Given the description of an element on the screen output the (x, y) to click on. 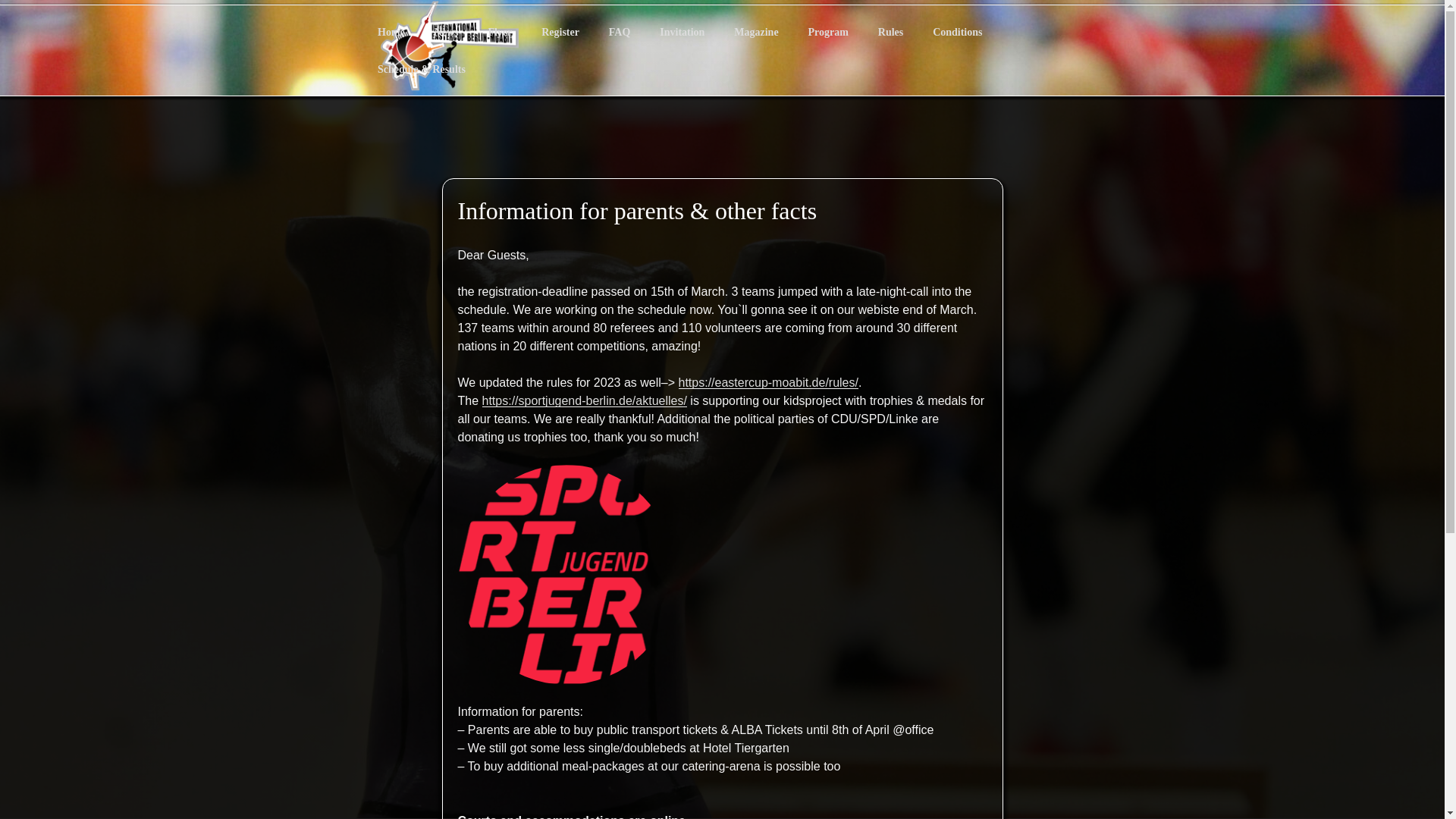
News (445, 31)
FAQ (619, 31)
Register (560, 31)
Invitation (681, 31)
Home (390, 31)
Conditions (957, 31)
Rules (889, 31)
Program (827, 31)
INTERNATIONAL EASTERCUP BERLIN-MOABIT (729, 112)
Magazine (756, 31)
Flyer (499, 31)
